Given the description of an element on the screen output the (x, y) to click on. 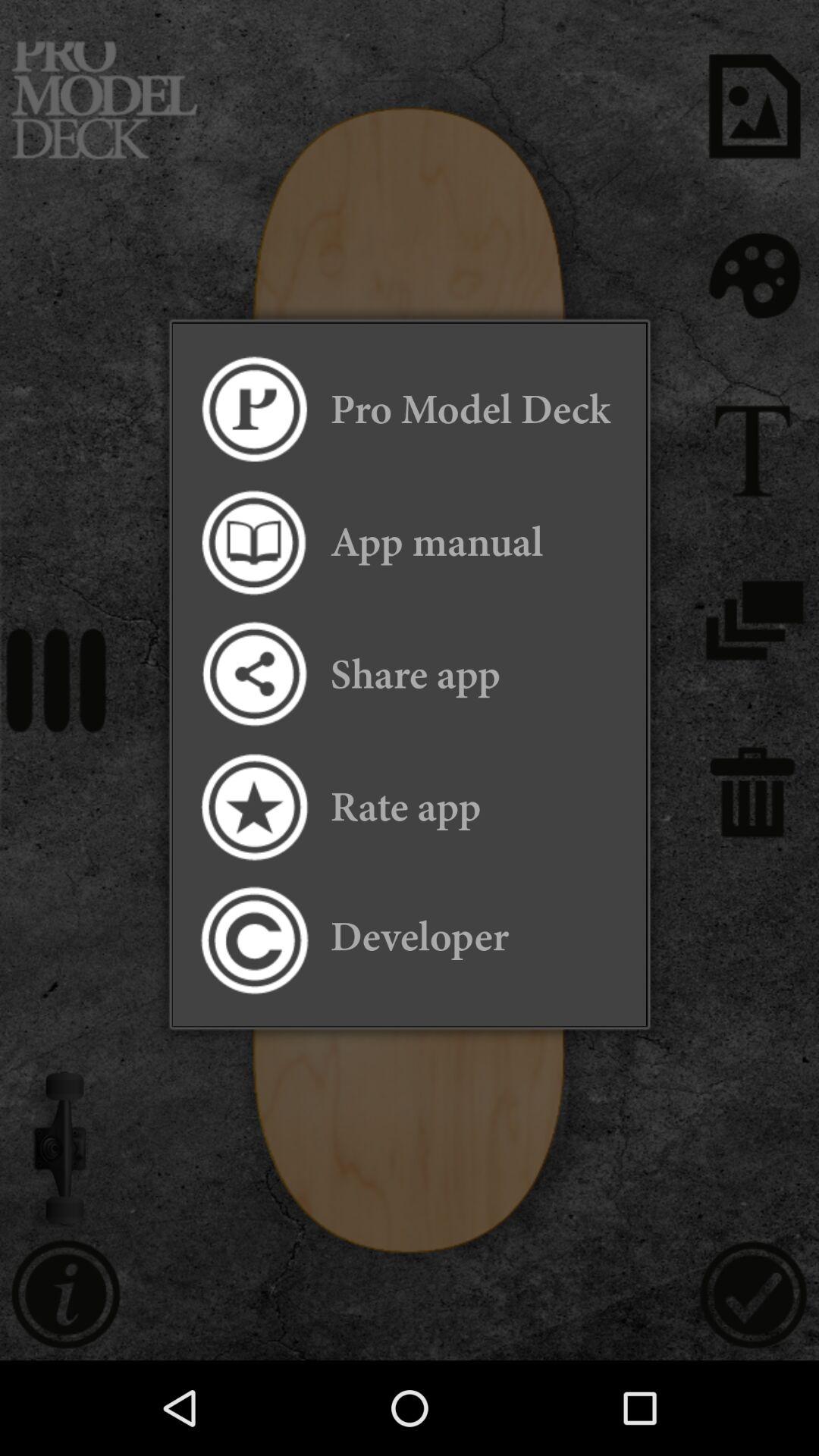
choose item to the left of the app manual app (253, 542)
